Given the description of an element on the screen output the (x, y) to click on. 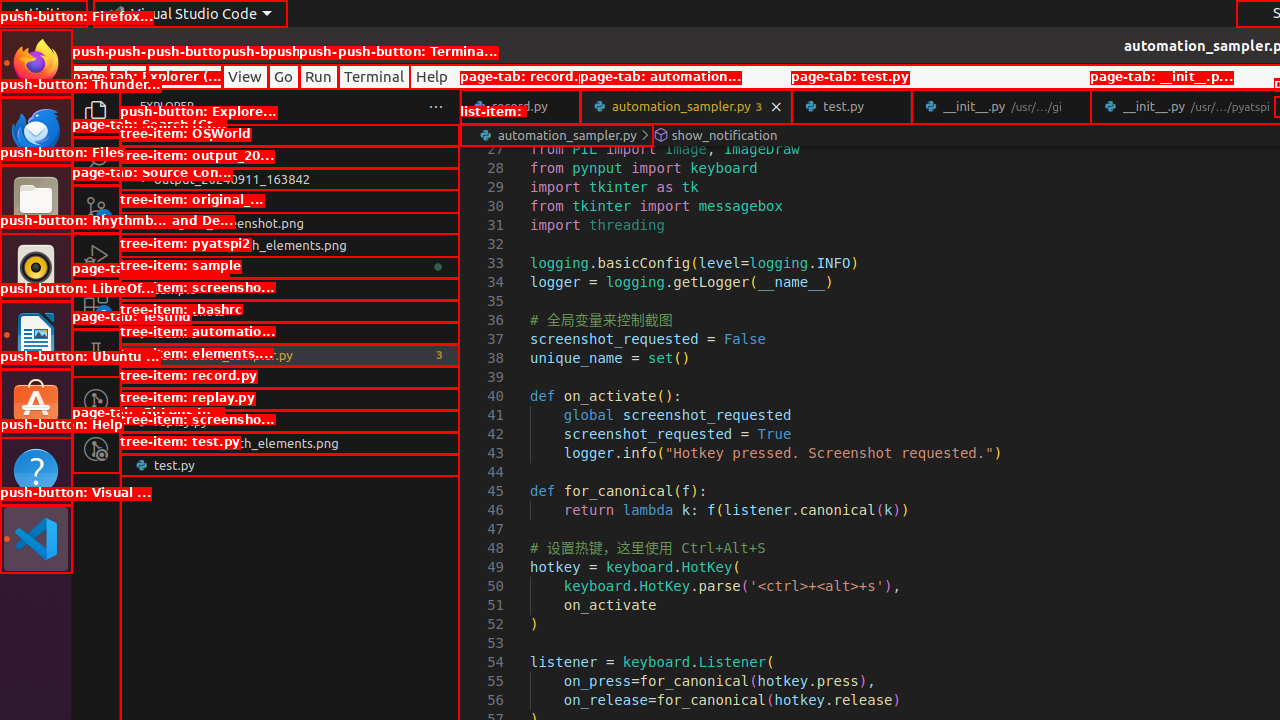
Selection Element type: push-button (184, 76)
record.py Element type: page-tab (520, 106)
screenshots Element type: tree-item (289, 311)
Testing Element type: page-tab (96, 353)
